Given the description of an element on the screen output the (x, y) to click on. 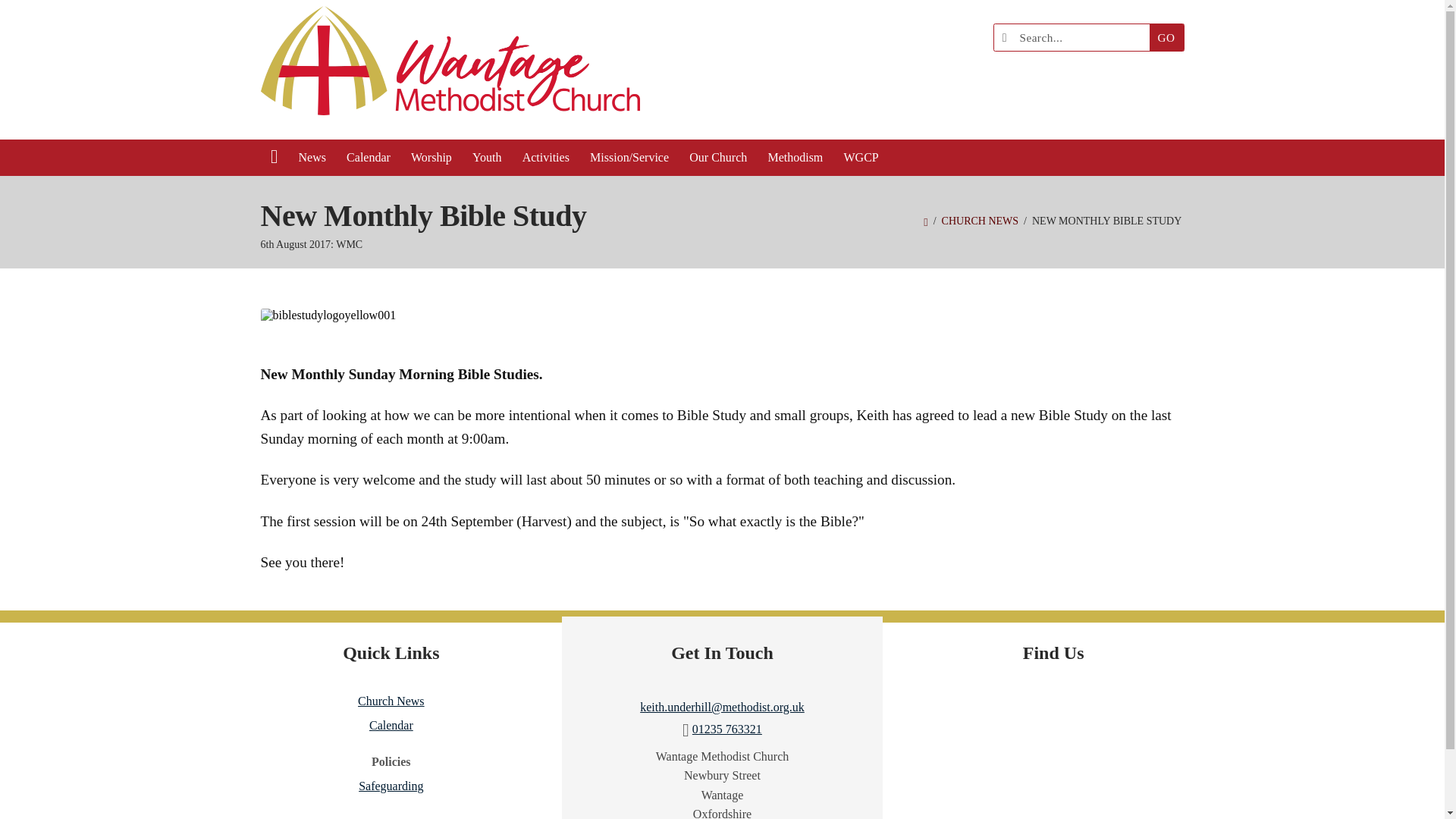
Sign into the Cloud (1174, 75)
Youth (486, 157)
Wantage Methodist Church Home (450, 69)
Activities (545, 157)
Calendar (368, 157)
Visit our X Feed (1142, 75)
GO (1166, 37)
Home (274, 157)
Worship (430, 157)
Search... (1074, 37)
Call now (727, 728)
Home (925, 220)
